Given the description of an element on the screen output the (x, y) to click on. 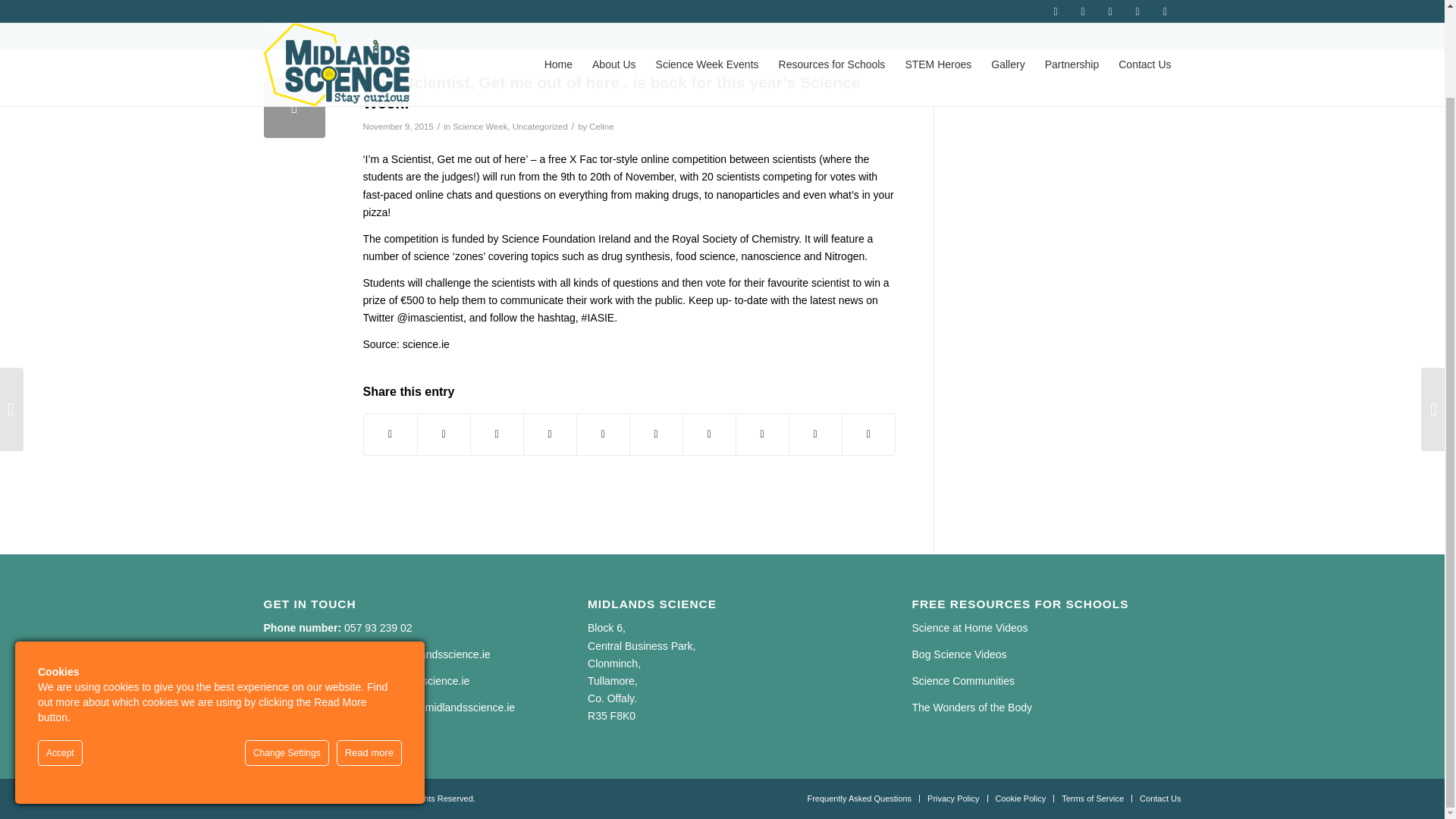
Home (558, 2)
About Us (614, 2)
Permanent Link: News (278, 26)
Contact Us (1144, 2)
Posts by Celine (600, 126)
Partnership (1072, 2)
Science Week Events (707, 2)
STEM Heroes (938, 2)
Gallery (1007, 2)
Resources for Schools (831, 2)
